Given the description of an element on the screen output the (x, y) to click on. 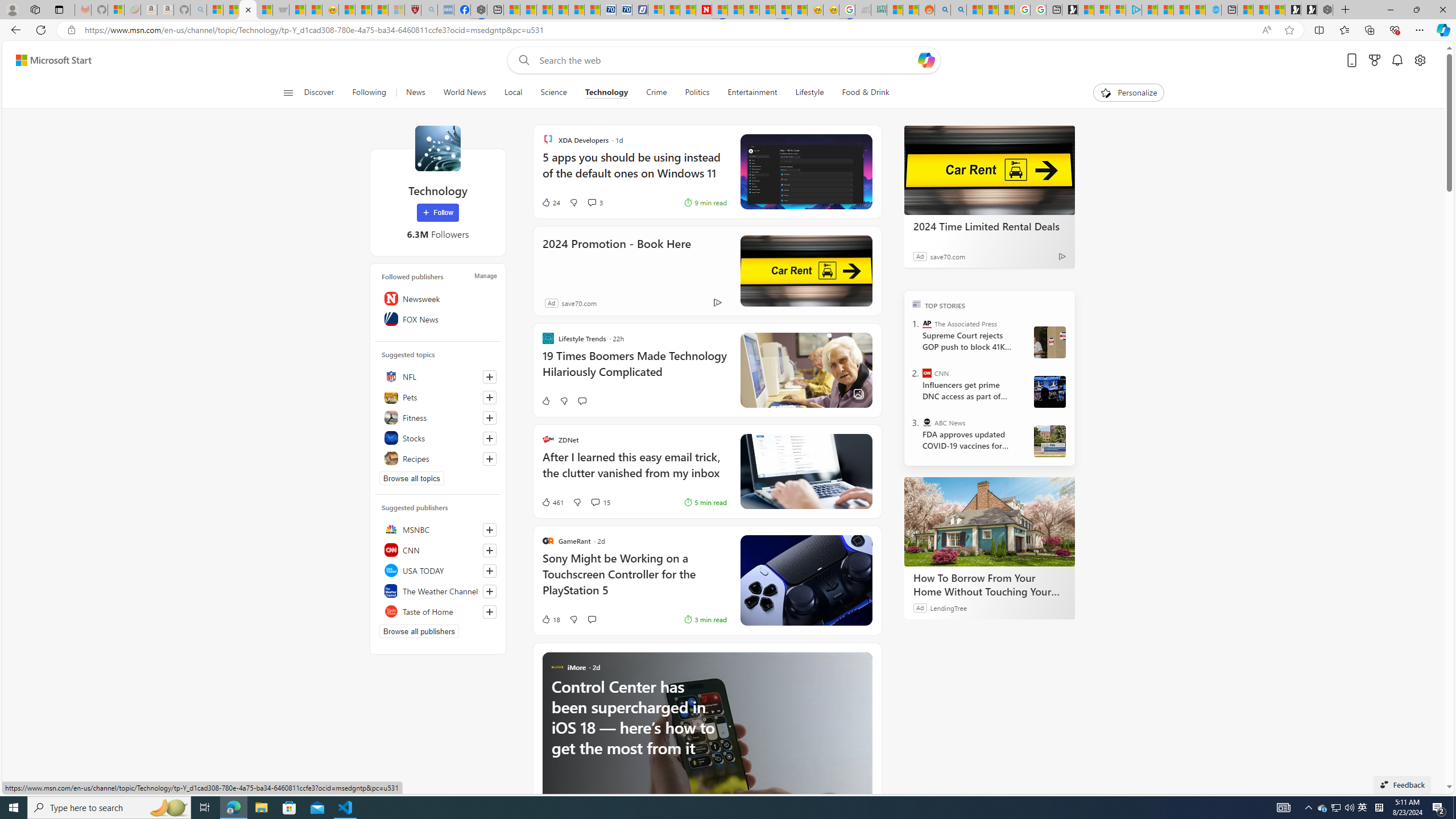
Follow this source (489, 612)
Follow this topic (489, 459)
